Given the description of an element on the screen output the (x, y) to click on. 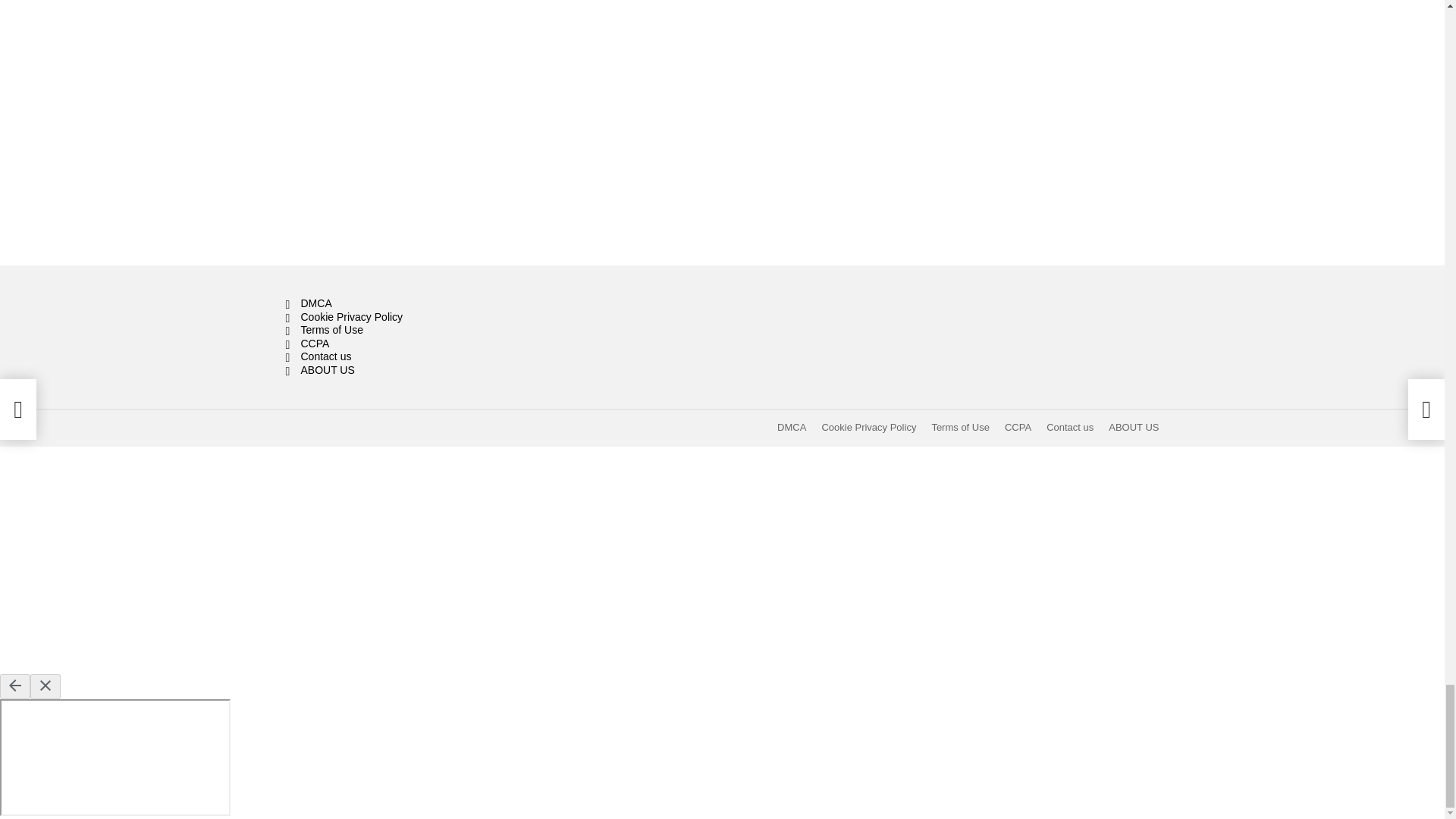
DMCA (422, 304)
Terms of Use (422, 330)
DMCA (791, 427)
Cookie Privacy Policy (422, 317)
CCPA (422, 344)
CCPA (1018, 427)
Cookie Privacy Policy (868, 427)
Contact us (422, 356)
ABOUT US (422, 370)
Terms of Use (960, 427)
